Given the description of an element on the screen output the (x, y) to click on. 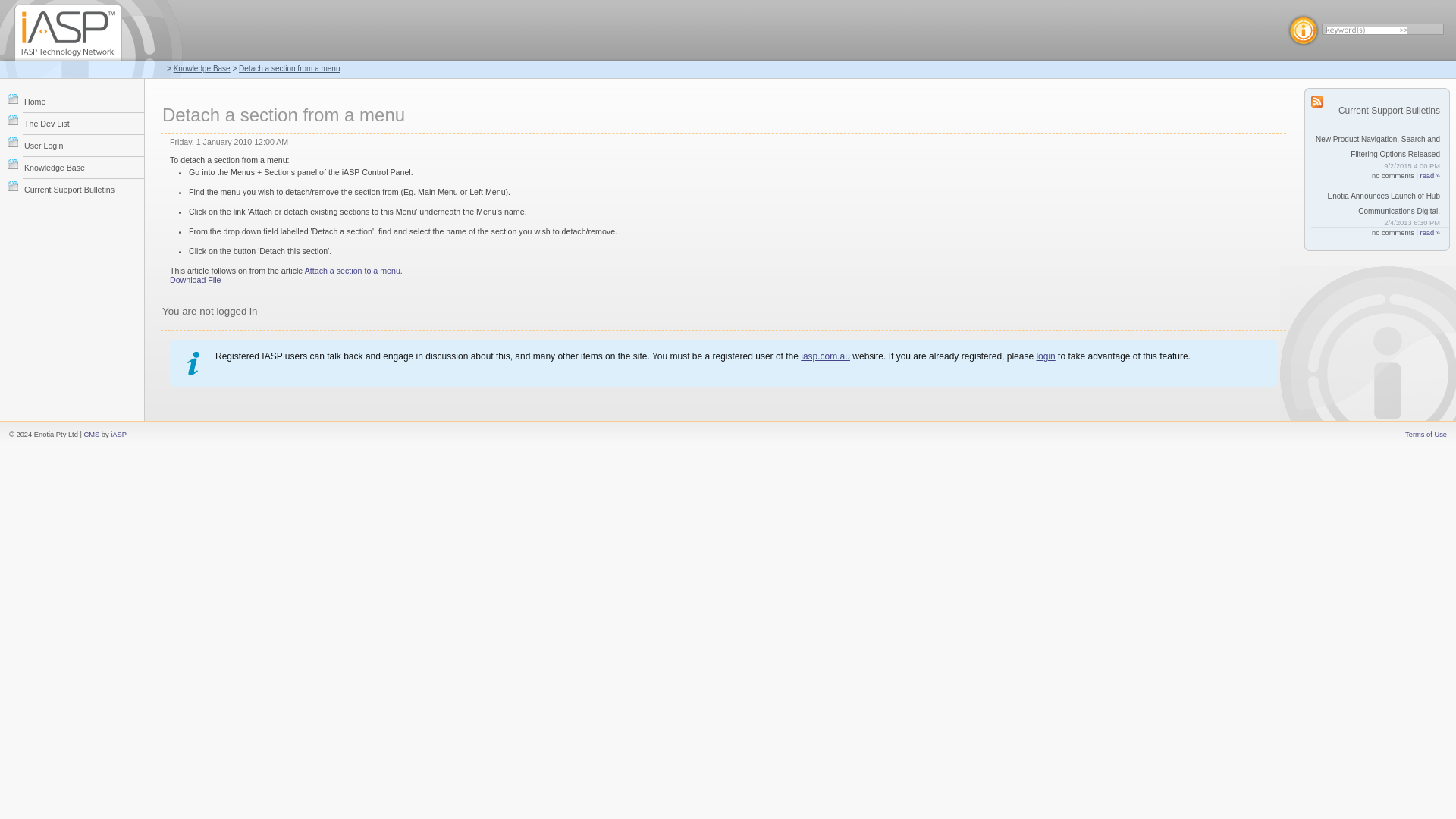
User Login (83, 145)
iASP (118, 434)
The Dev List (83, 123)
iasp.com.au (825, 356)
Knowledge Base (83, 167)
Detach a section from a menu (288, 68)
Terms of Use (1426, 434)
Download File (195, 279)
Attach a section to a menu (352, 270)
Home (83, 101)
